Given the description of an element on the screen output the (x, y) to click on. 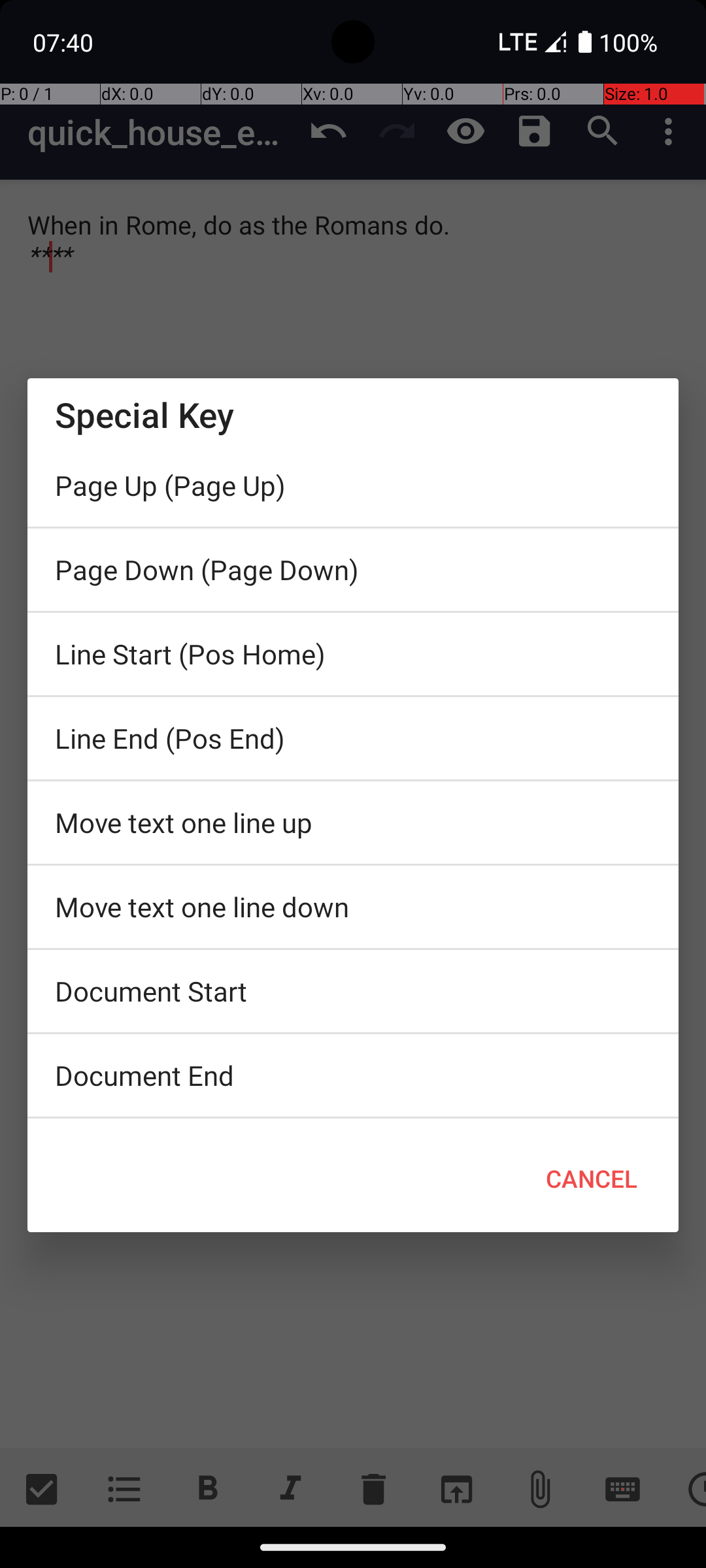
07:40 Element type: android.widget.TextView (64, 41)
